Given the description of an element on the screen output the (x, y) to click on. 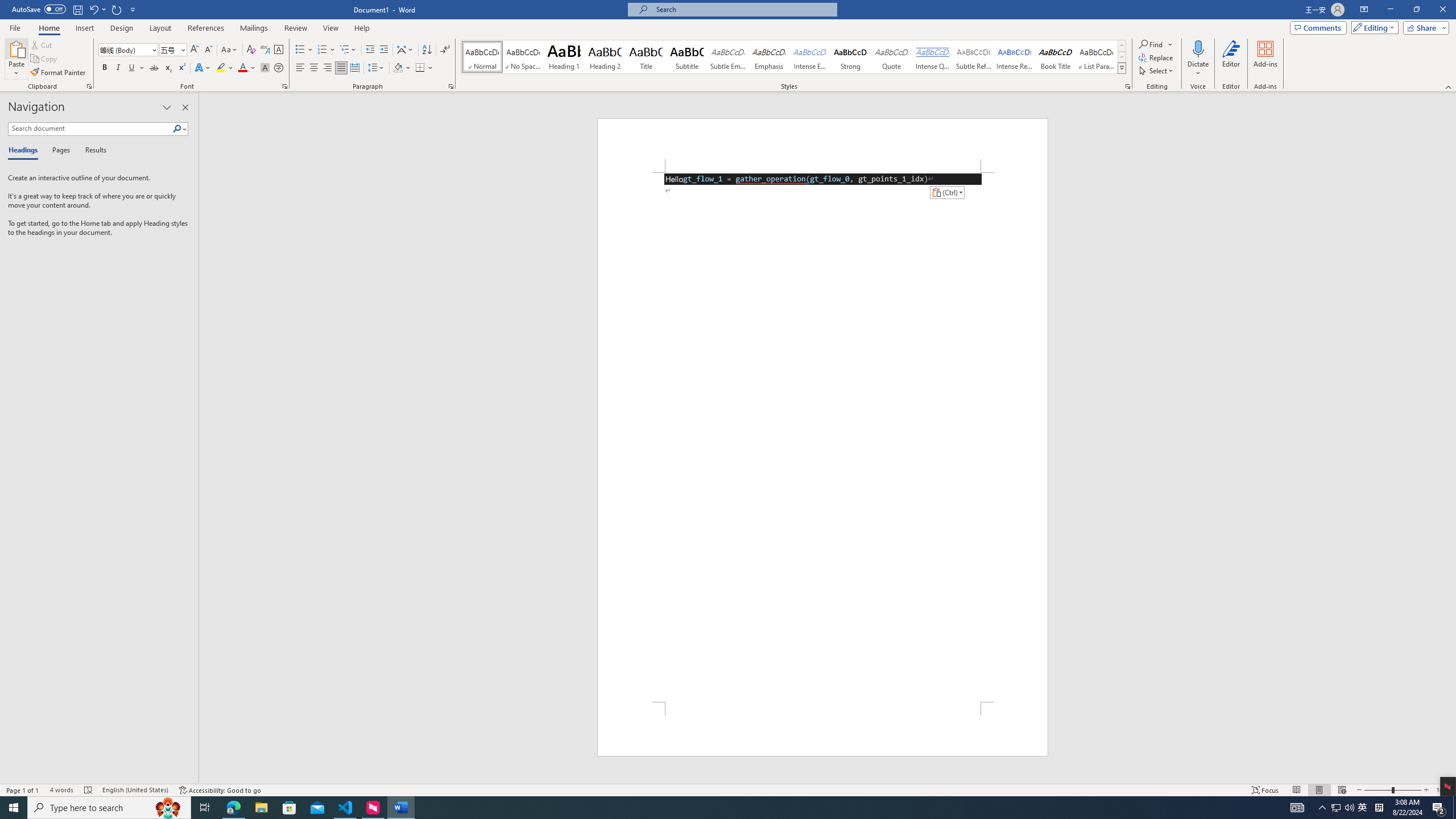
Intense Reference (1014, 56)
Book Title (1055, 56)
Undo Paste (96, 9)
Page 1 content (822, 436)
